Given the description of an element on the screen output the (x, y) to click on. 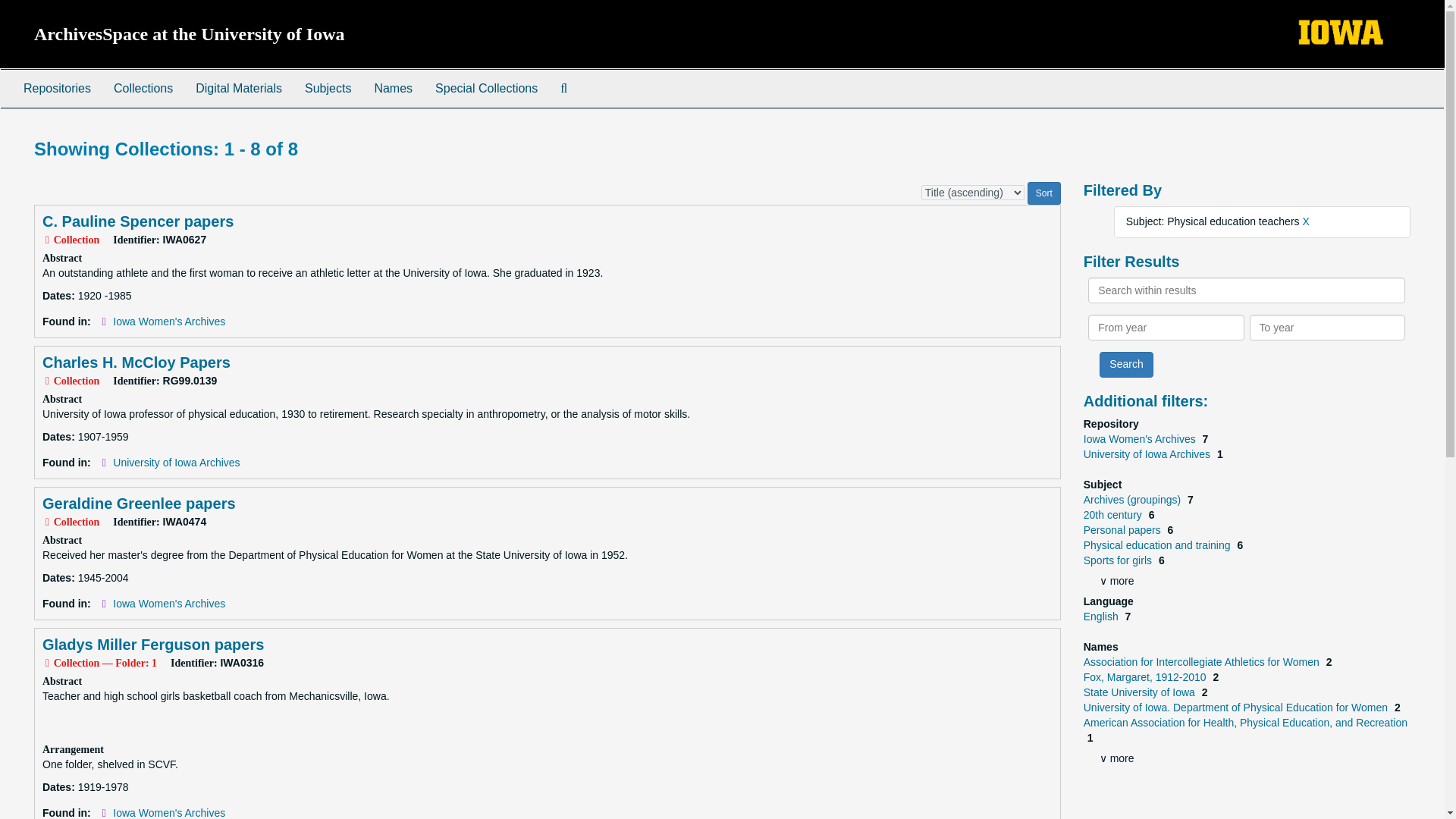
Digital Materials (239, 88)
Filter By 'Iowa Women's Archives' (1140, 439)
Names (392, 88)
Special Collections (485, 88)
Subjects (328, 88)
University of Iowa Archives (1147, 453)
Iowa Women's Archives (169, 321)
Search (1126, 364)
Gladys Miller Ferguson papers (152, 644)
Filter By '20th century' (1113, 514)
